Given the description of an element on the screen output the (x, y) to click on. 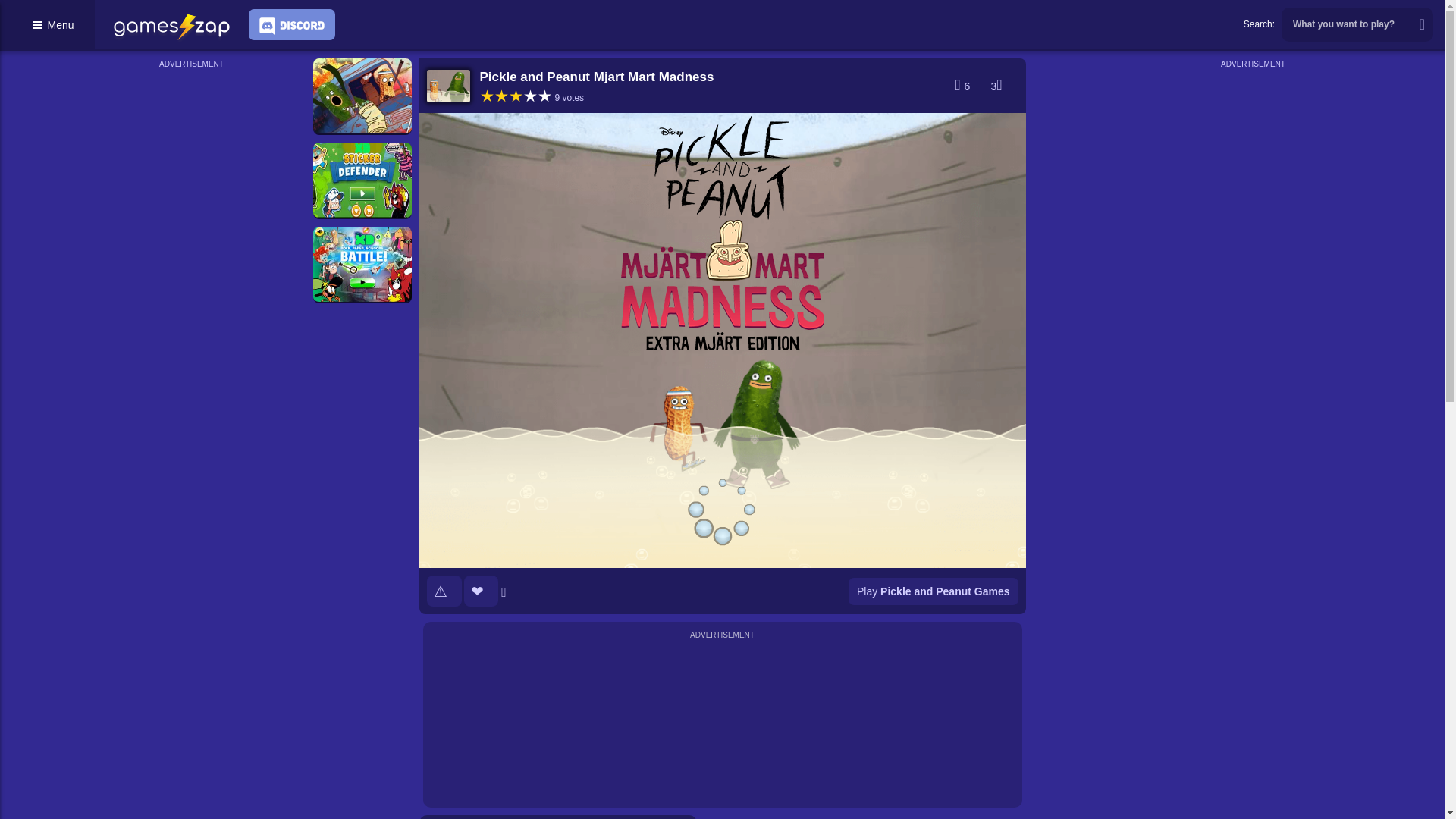
Play Pickle and Peanut Games (932, 591)
GamesZap (171, 26)
Join our Discord (291, 24)
